Given the description of an element on the screen output the (x, y) to click on. 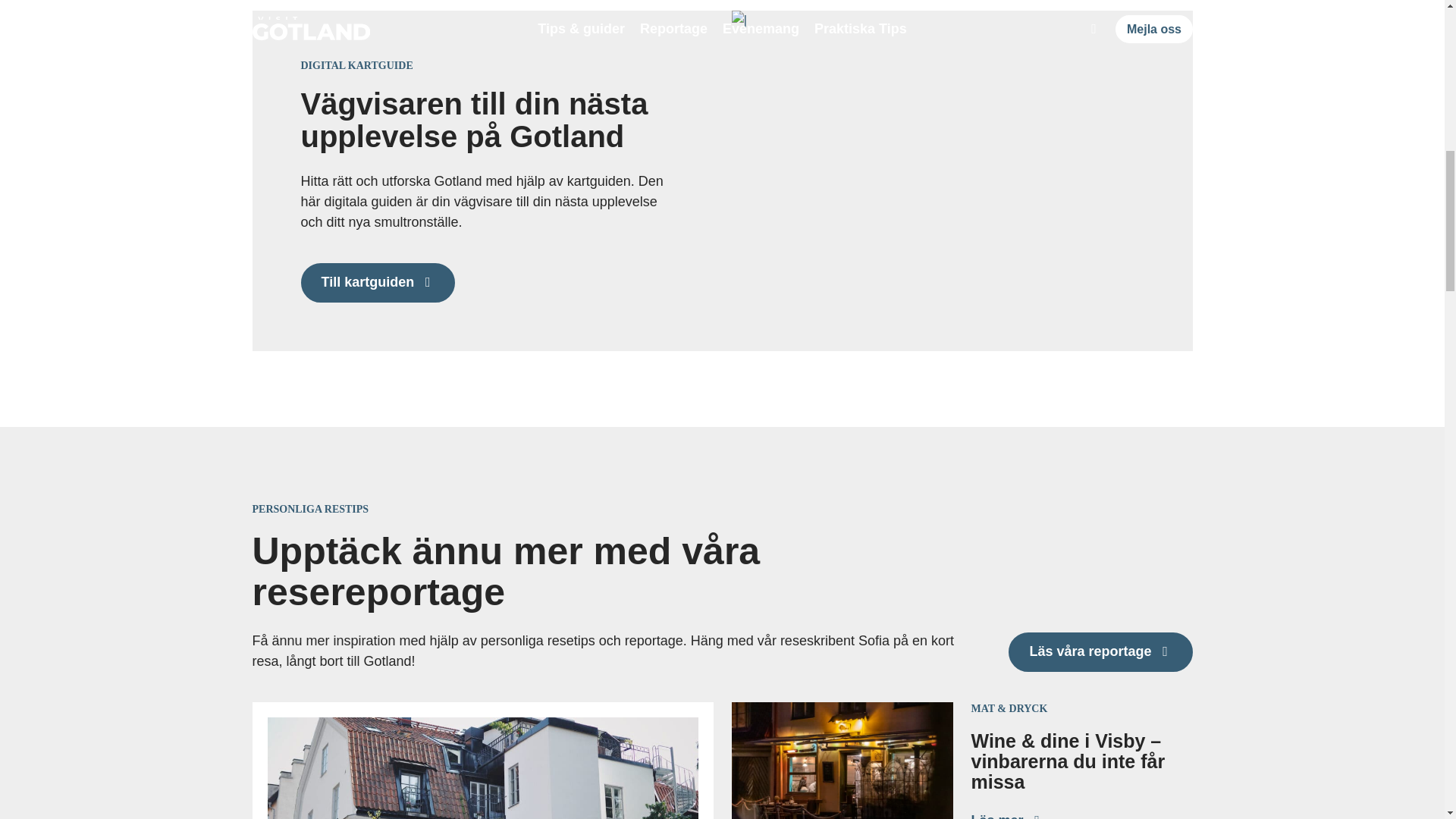
Till kartguiden (376, 282)
